Given the description of an element on the screen output the (x, y) to click on. 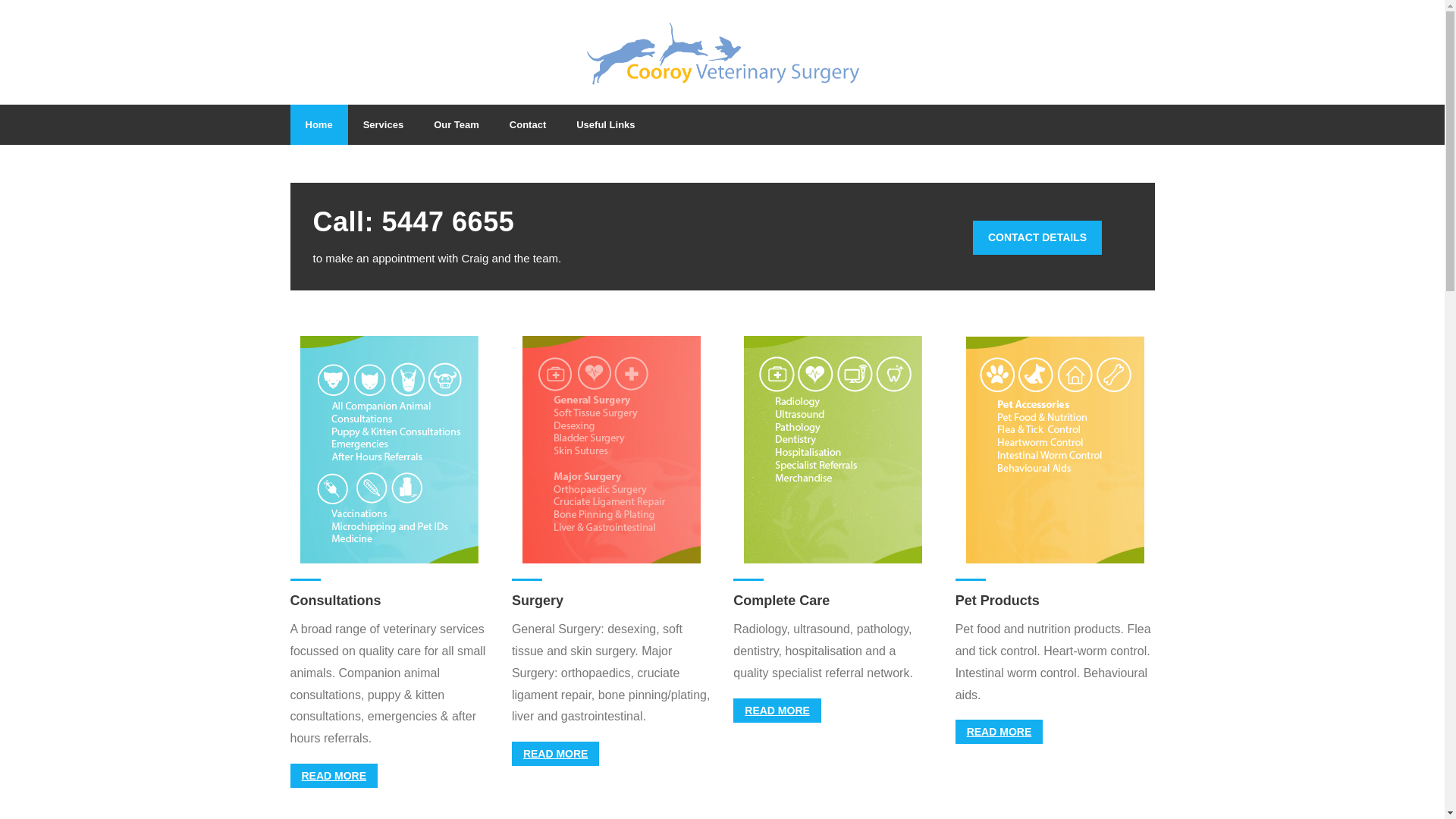
Services Element type: text (383, 124)
CONTACT DETAILS Element type: text (1036, 237)
READ MORE Element type: text (333, 775)
READ MORE Element type: text (555, 753)
READ MORE Element type: text (999, 731)
Home Element type: text (318, 124)
READ MORE Element type: text (777, 710)
Contact Element type: text (527, 124)
Our Team Element type: text (456, 124)
Search Element type: text (33, 17)
Useful Links Element type: text (605, 124)
